Given the description of an element on the screen output the (x, y) to click on. 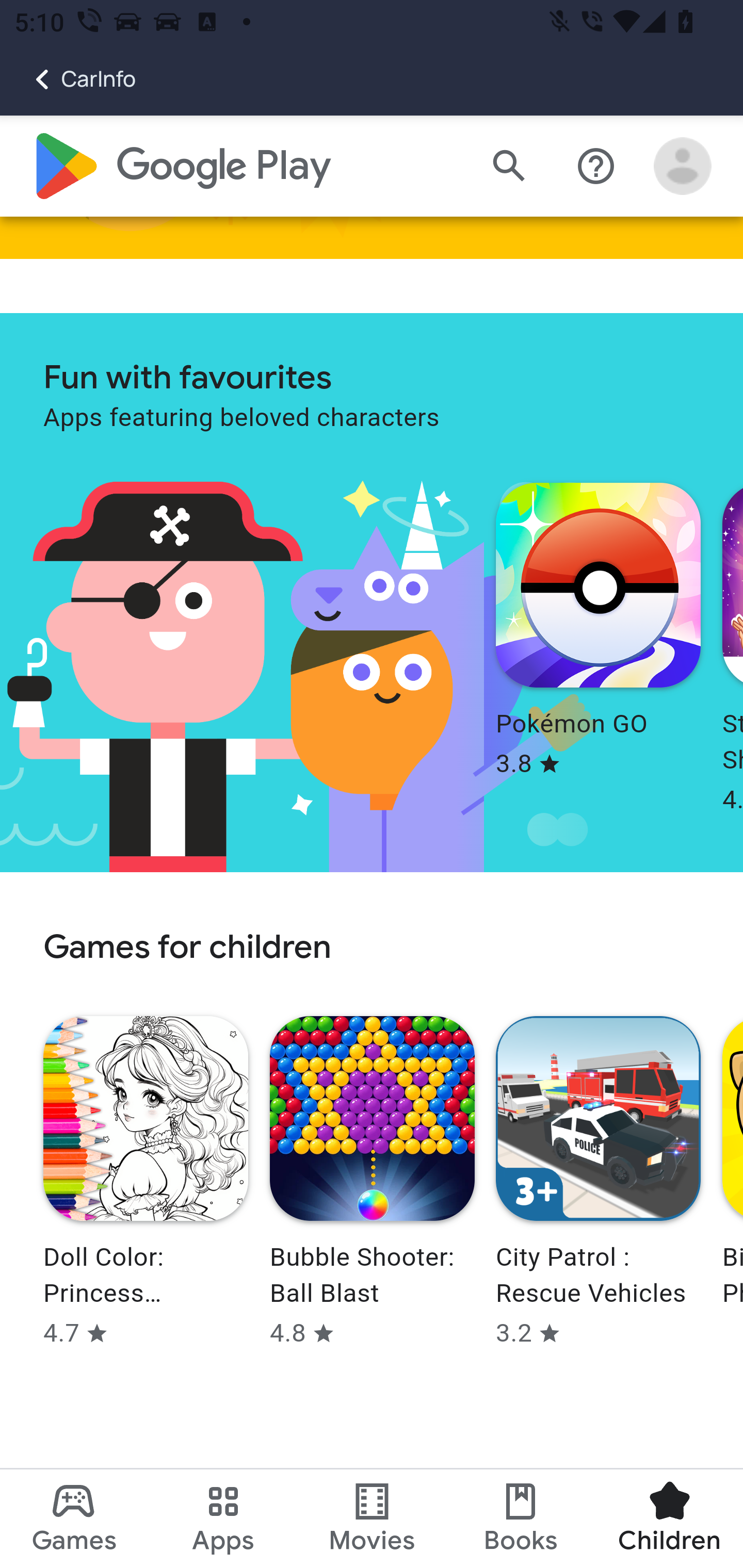
CarInfo (67, 79)
Google Play logo (180, 166)
Search (508, 166)
Help centre (596, 166)
Open account menu (682, 166)
Games (74, 1518)
Apps (222, 1518)
Movies (372, 1518)
Books (520, 1518)
Children (668, 1518)
